Given the description of an element on the screen output the (x, y) to click on. 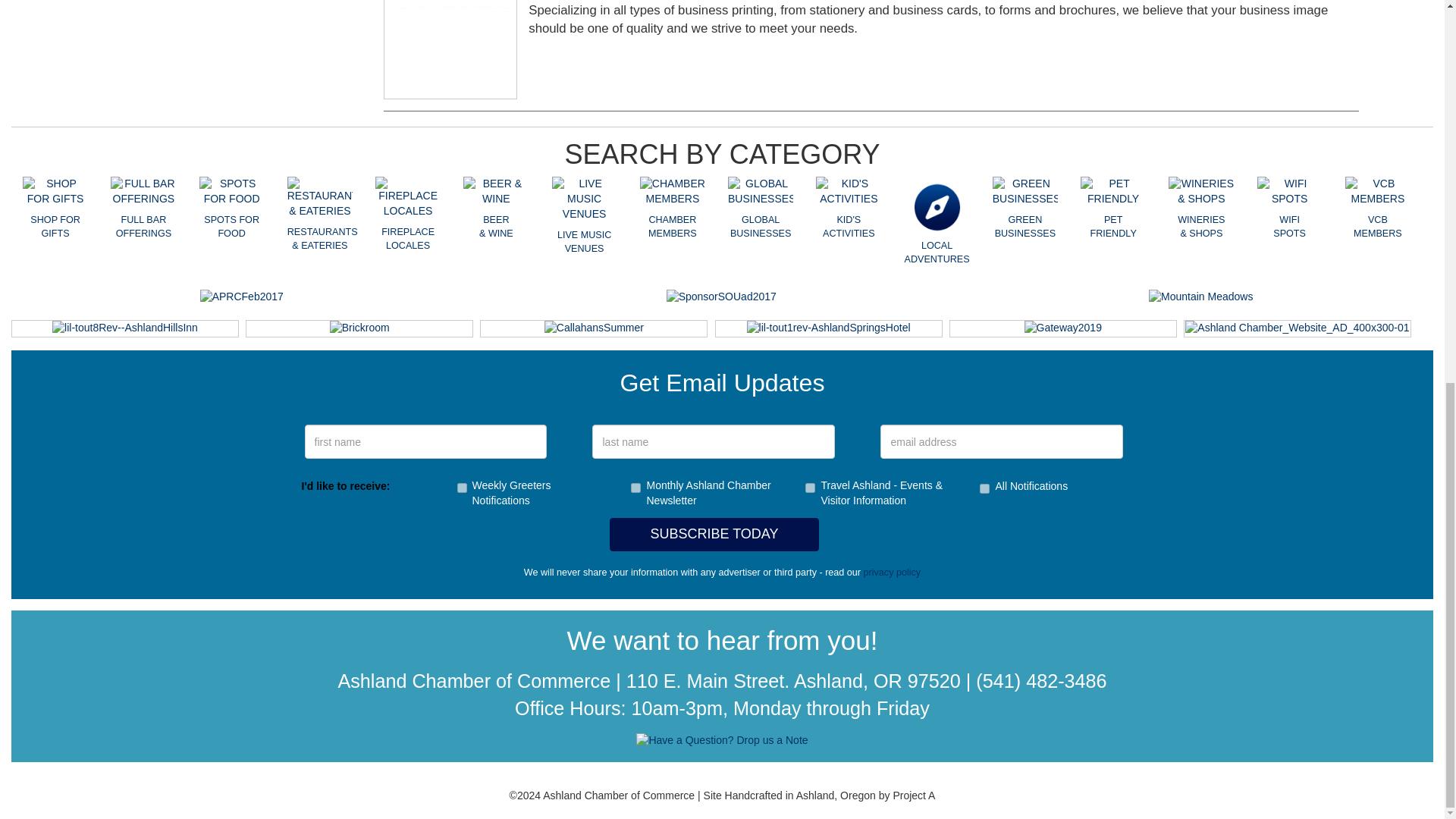
2 (461, 488)
SPOTS FOR FOOD (230, 191)
GLOBAL BUSINESSES (760, 191)
All Notifications (984, 488)
KID'S ACTIVITIES (847, 191)
Have a Question? Drop us a Note (722, 740)
GREEN BUSINESSES (1025, 191)
FULL BAR OFFERINGS (143, 191)
CHAMBER MEMBERS (672, 191)
VCB MEMBERS (1377, 191)
